Given the description of an element on the screen output the (x, y) to click on. 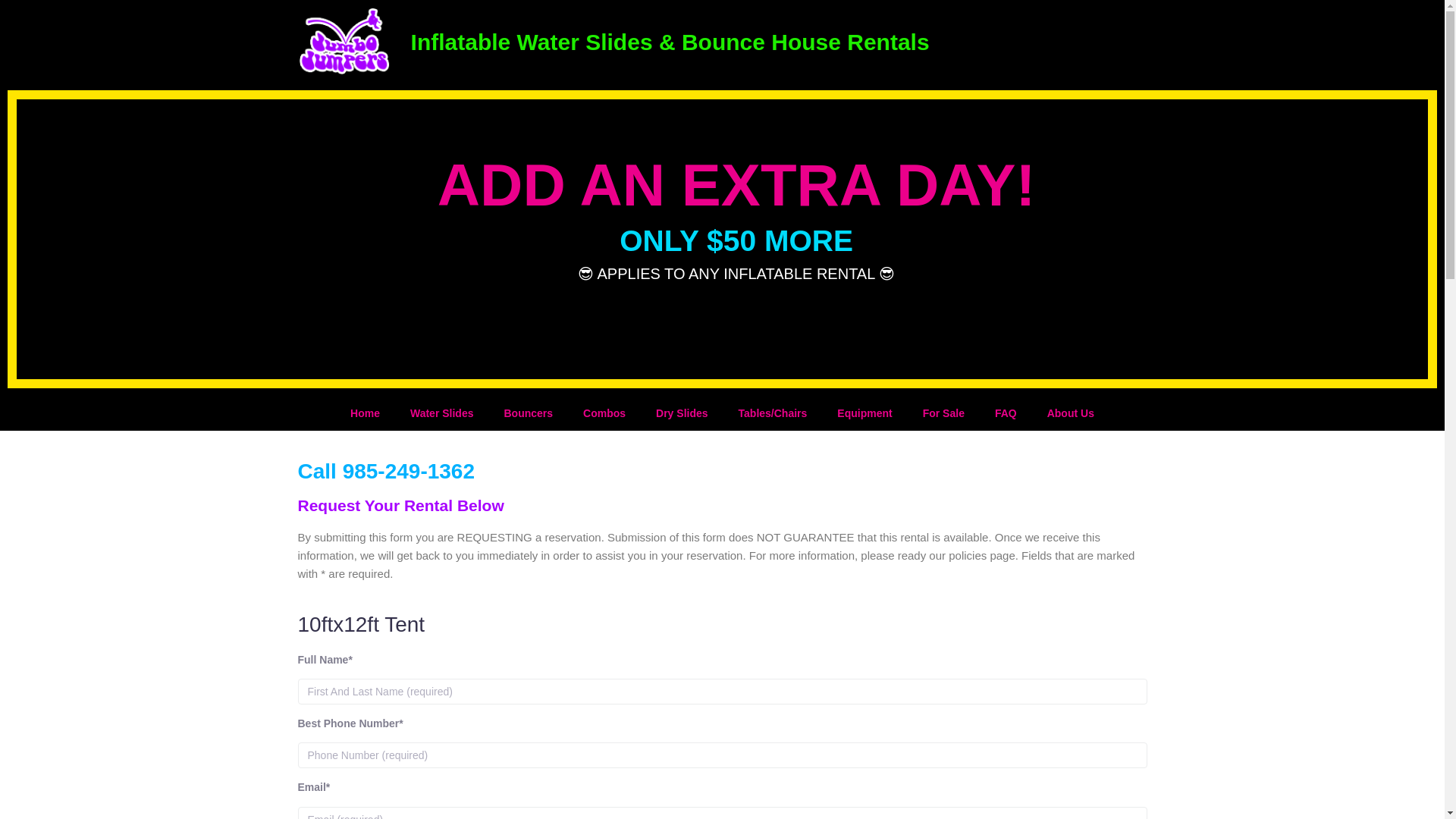
About Us (1070, 412)
Combos (603, 412)
Call 985-249-1362 (385, 471)
For Sale (943, 412)
Water Slides (441, 412)
Home (364, 412)
Equipment (864, 412)
FAQ (1005, 412)
Bouncers (527, 412)
Dry Slides (681, 412)
